Given the description of an element on the screen output the (x, y) to click on. 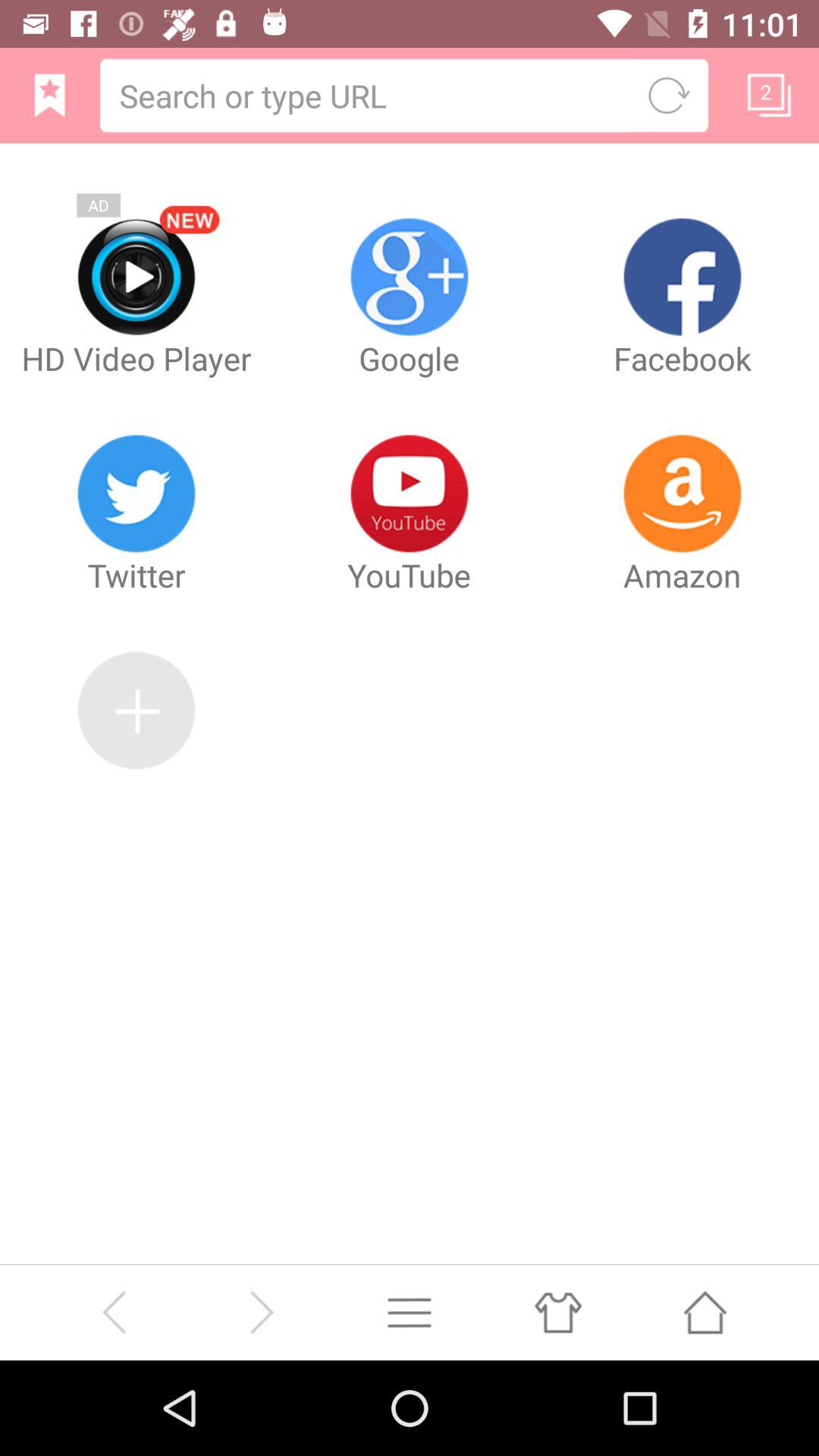
search option (369, 95)
